Given the description of an element on the screen output the (x, y) to click on. 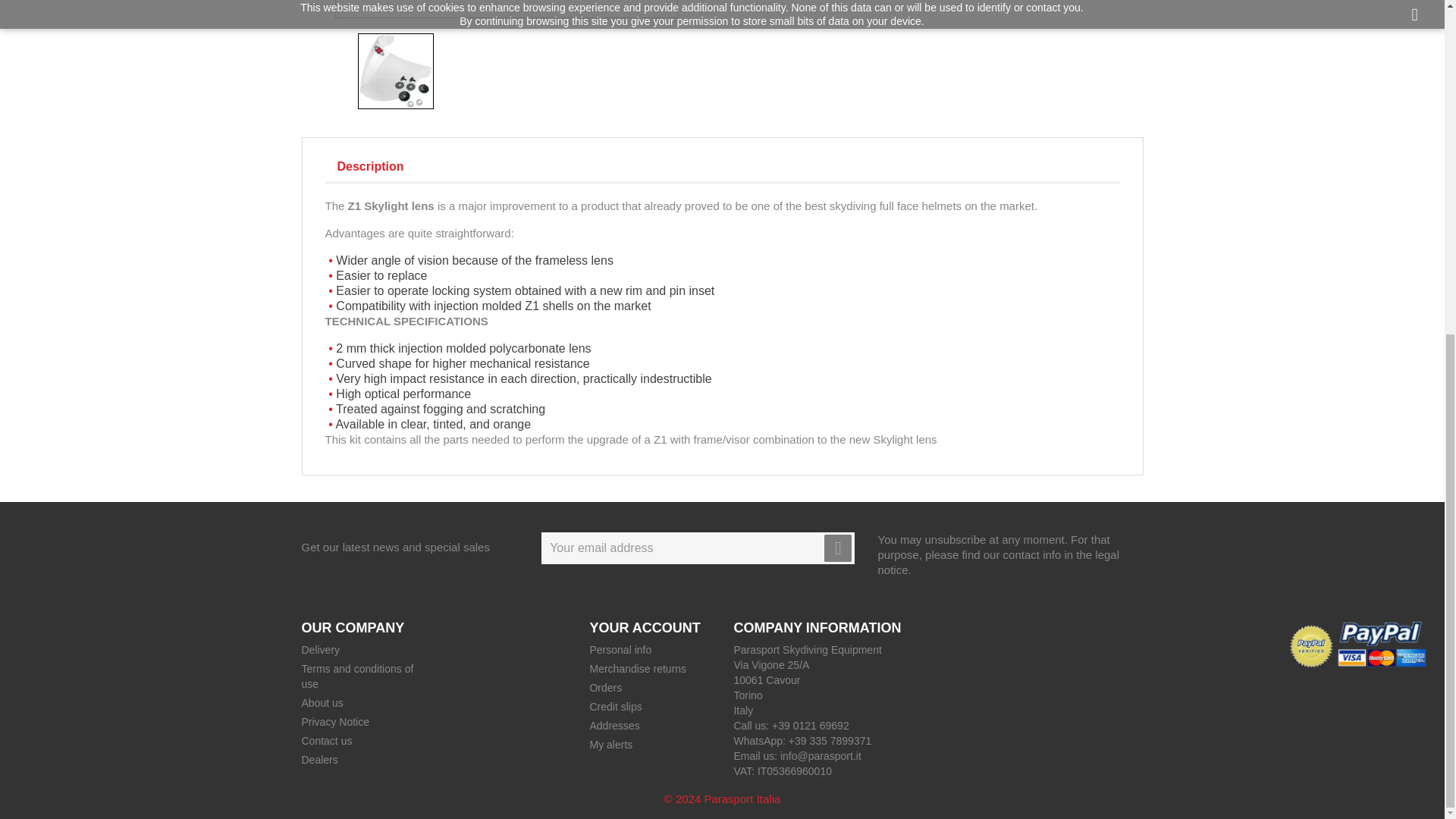
Use our form to contact us (326, 740)
My alerts (610, 744)
Addresses (614, 725)
Our terms and conditions of use (357, 676)
Privacy Notice (335, 721)
Terms and conditions of delivery (320, 649)
Credit slips (615, 706)
Personal info (619, 649)
Merchandise returns (637, 668)
Learn more about us (322, 702)
